Given the description of an element on the screen output the (x, y) to click on. 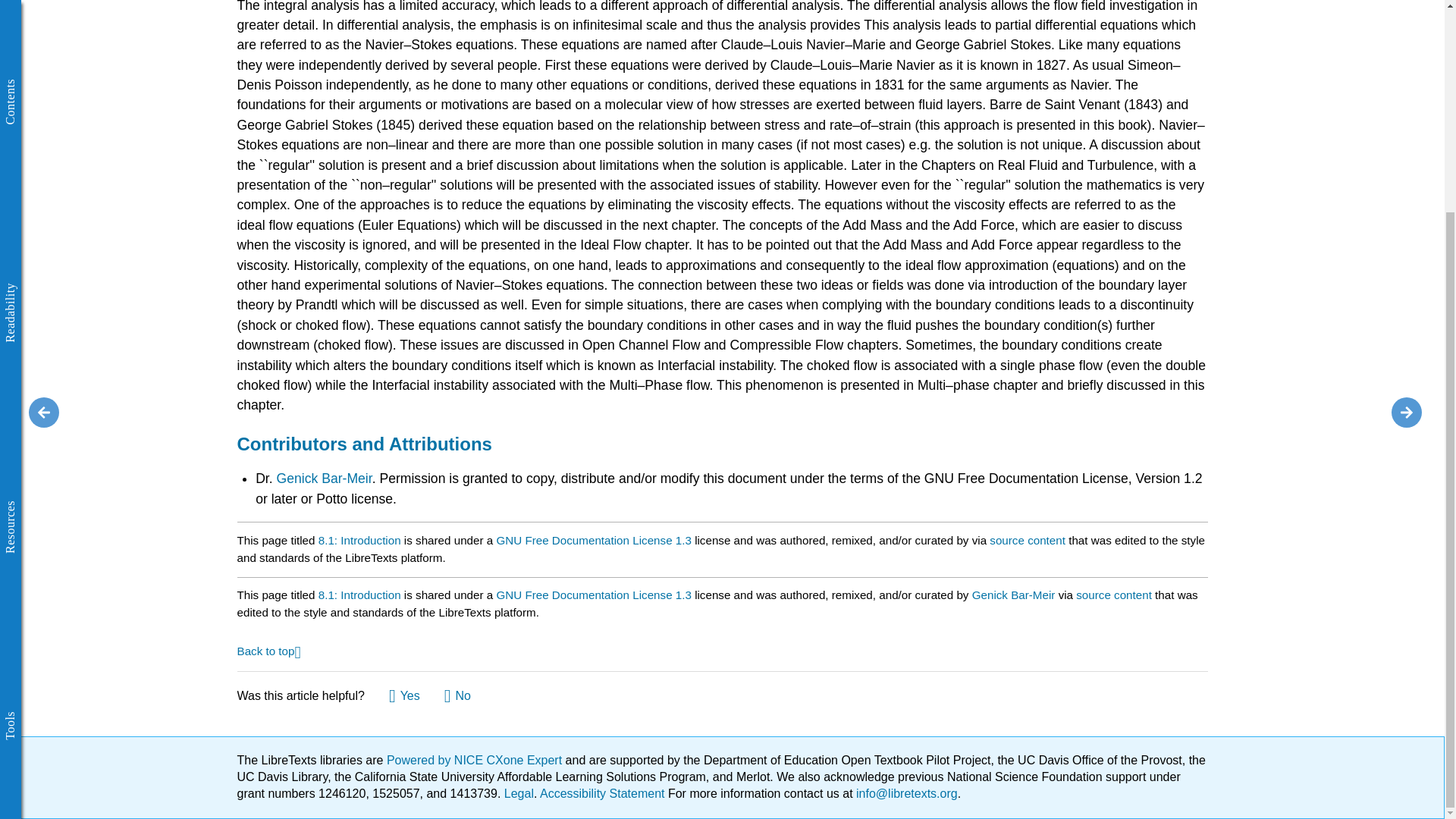
Jump back to top of this article (267, 650)
